Given the description of an element on the screen output the (x, y) to click on. 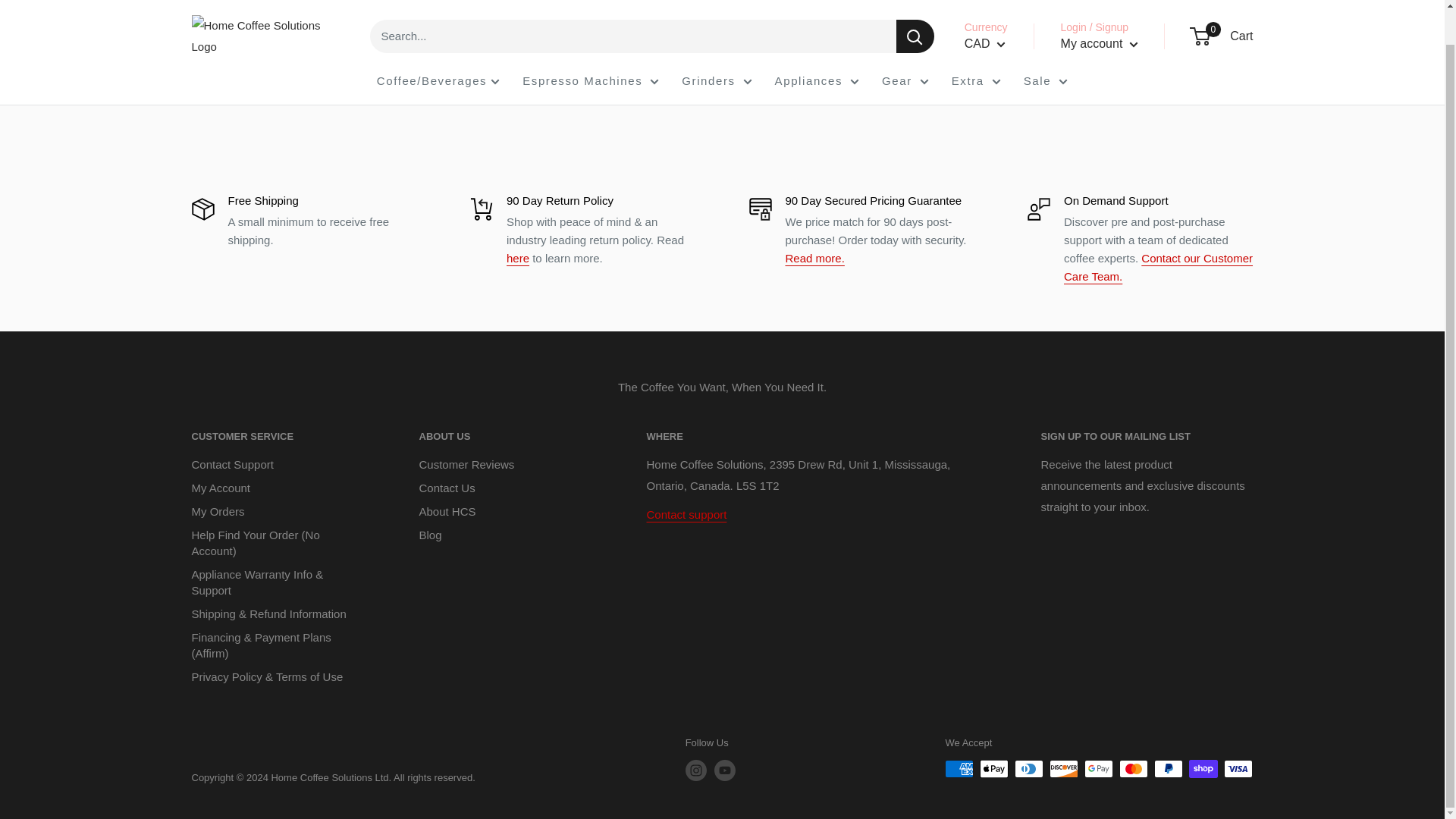
Contact Info (1158, 266)
Contact Info (686, 513)
90 Day Secured Lowest Price Guarantee (815, 257)
